Given the description of an element on the screen output the (x, y) to click on. 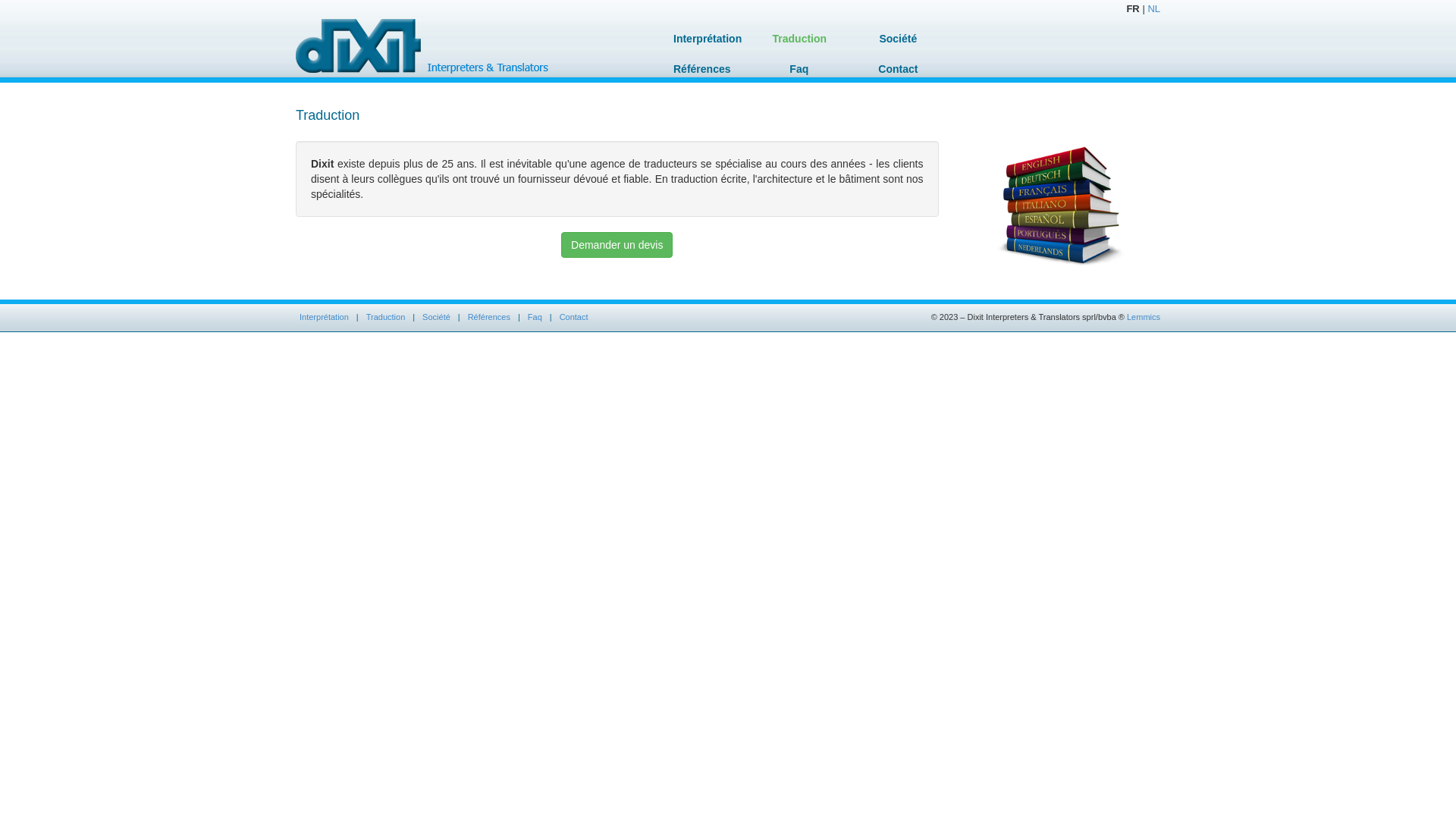
Lemmics Element type: text (1143, 316)
Demander un devis Element type: text (616, 244)
Contact Element type: text (897, 68)
Faq Element type: text (534, 316)
Traduction Element type: text (385, 316)
Contact Element type: text (573, 316)
NL Element type: text (1153, 8)
Traduction Element type: text (799, 38)
Faq Element type: text (799, 68)
